Given the description of an element on the screen output the (x, y) to click on. 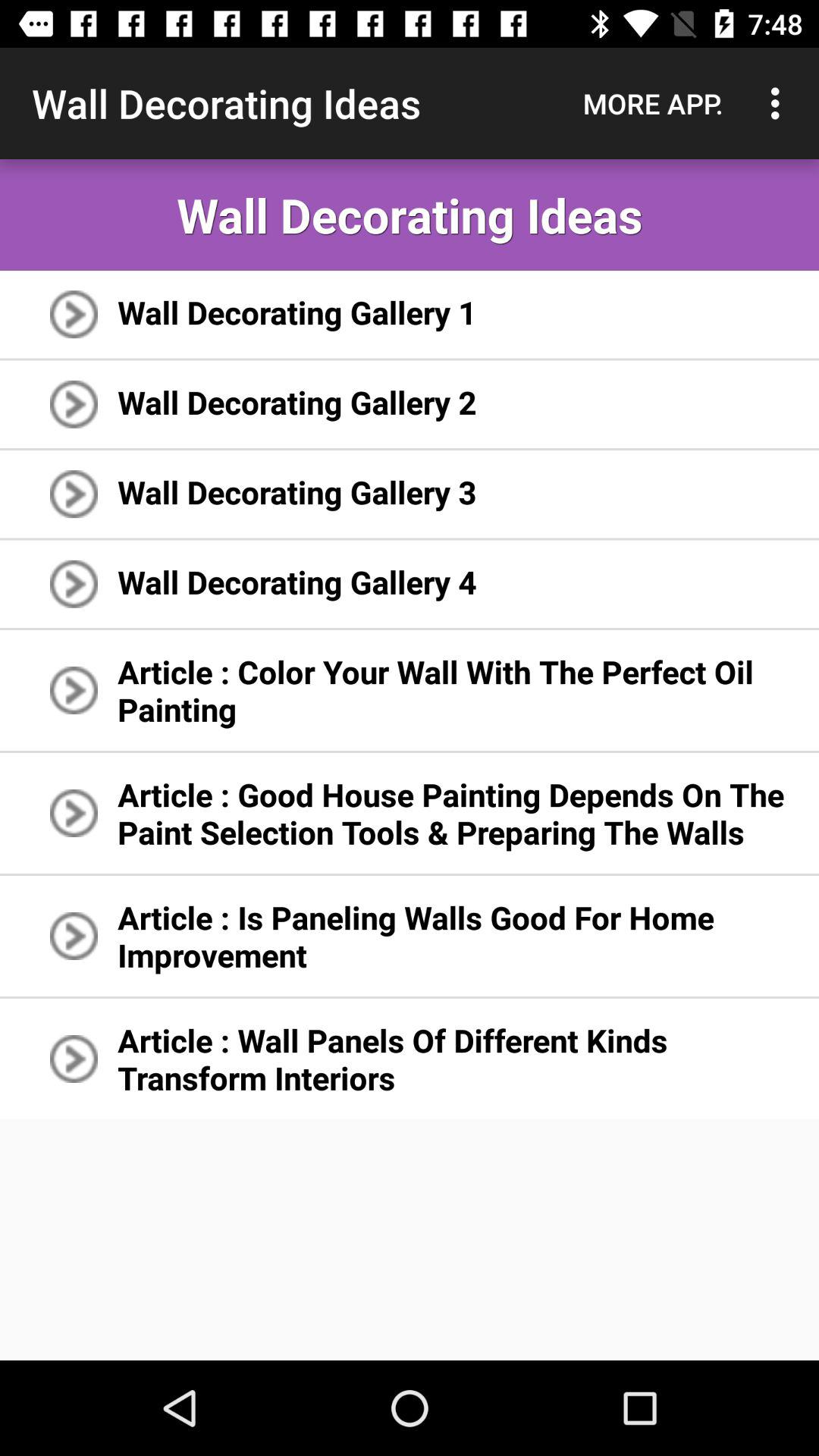
turn off the item above wall decorating ideas app (779, 103)
